Given the description of an element on the screen output the (x, y) to click on. 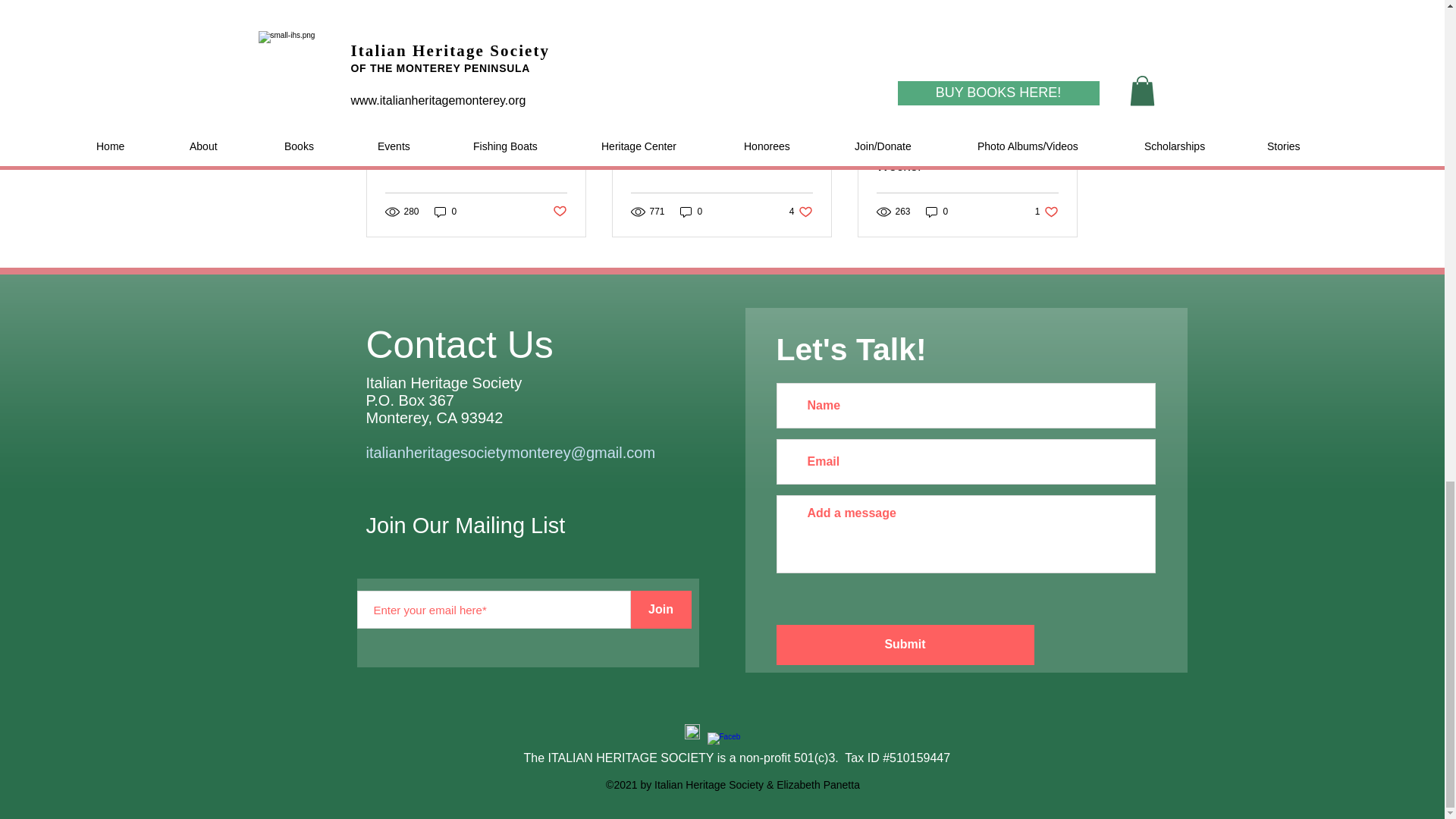
Post not marked as liked (800, 210)
0 (558, 211)
Dominic Mercurio (691, 210)
0 (721, 150)
